Given the description of an element on the screen output the (x, y) to click on. 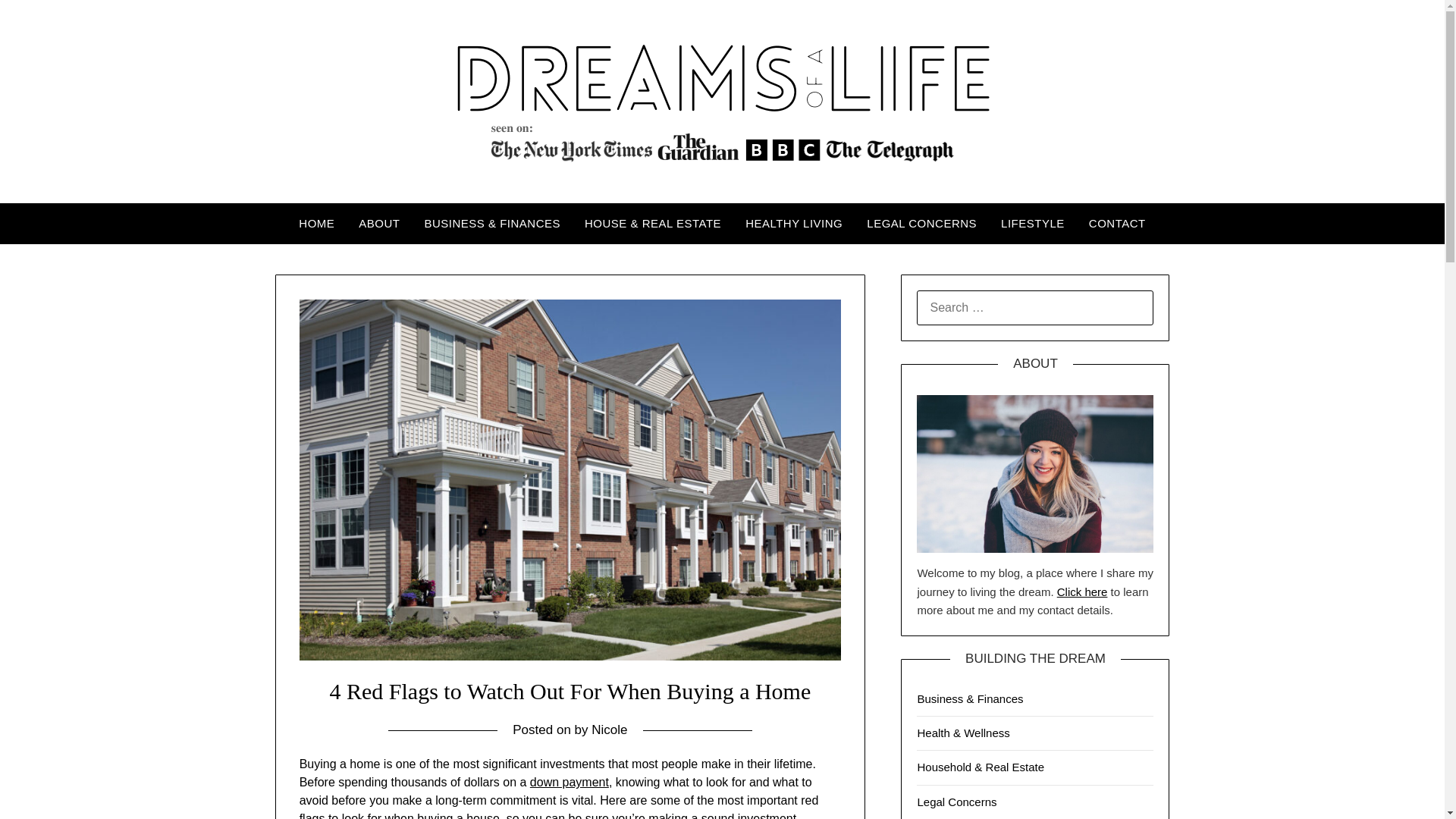
HOME (316, 223)
Search (38, 22)
down payment (568, 781)
Click here (1082, 591)
LIFESTYLE (1032, 223)
HEALTHY LIVING (793, 223)
LEGAL CONCERNS (921, 223)
Nicole (609, 729)
Legal Concerns (956, 801)
CONTACT (1117, 223)
